Given the description of an element on the screen output the (x, y) to click on. 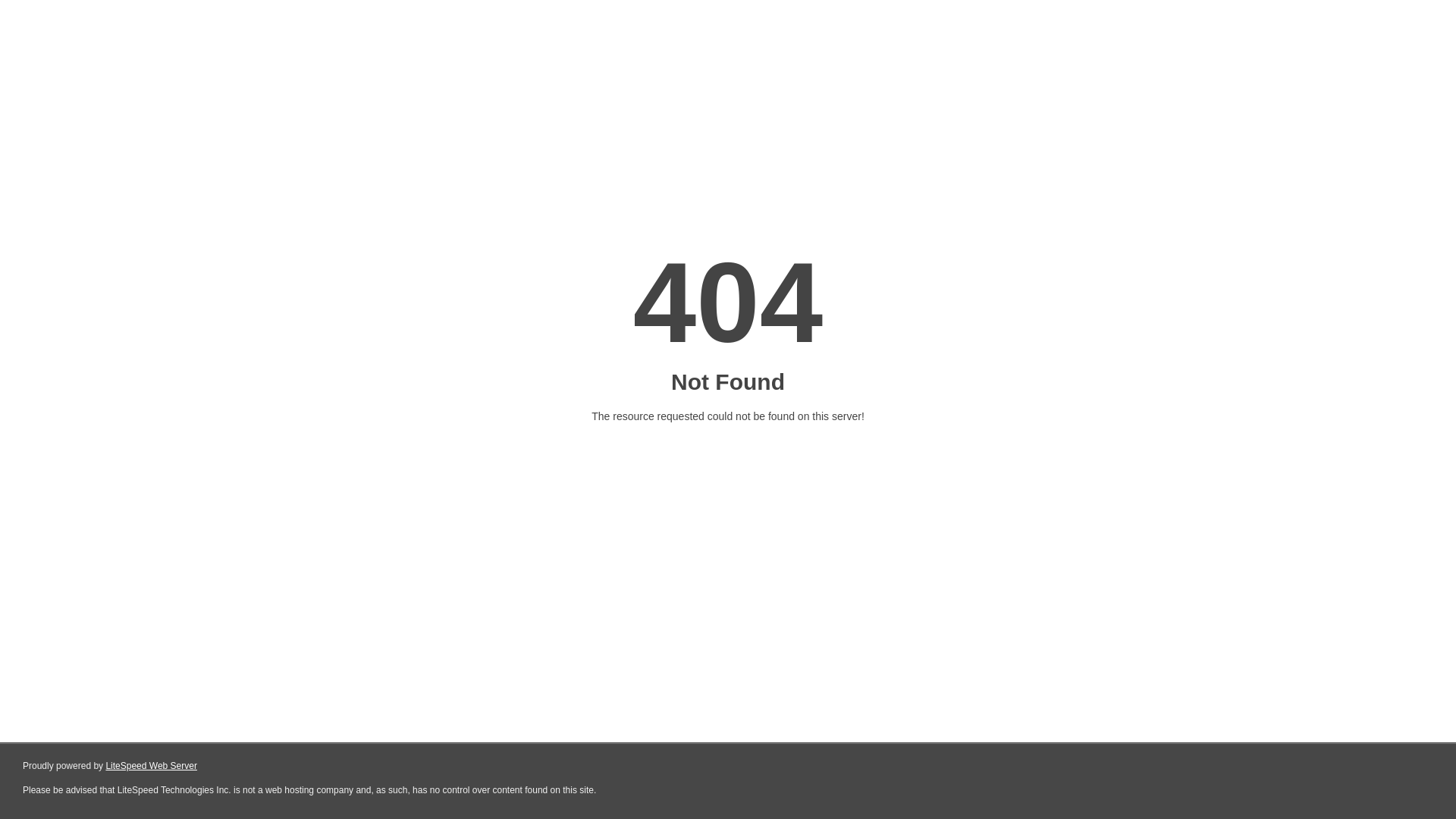
LiteSpeed Web Server Element type: text (151, 765)
